Given the description of an element on the screen output the (x, y) to click on. 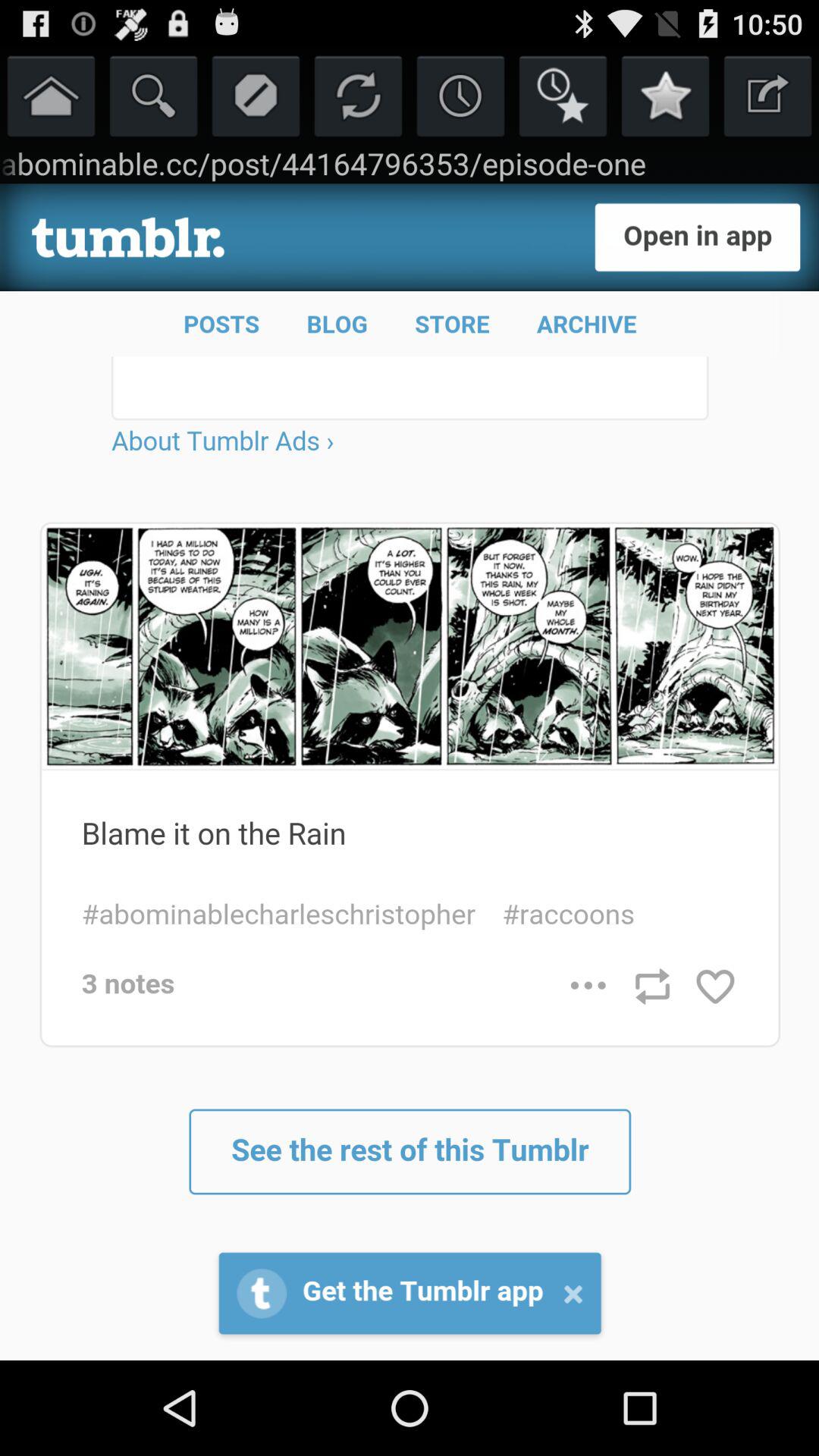
home (51, 95)
